Given the description of an element on the screen output the (x, y) to click on. 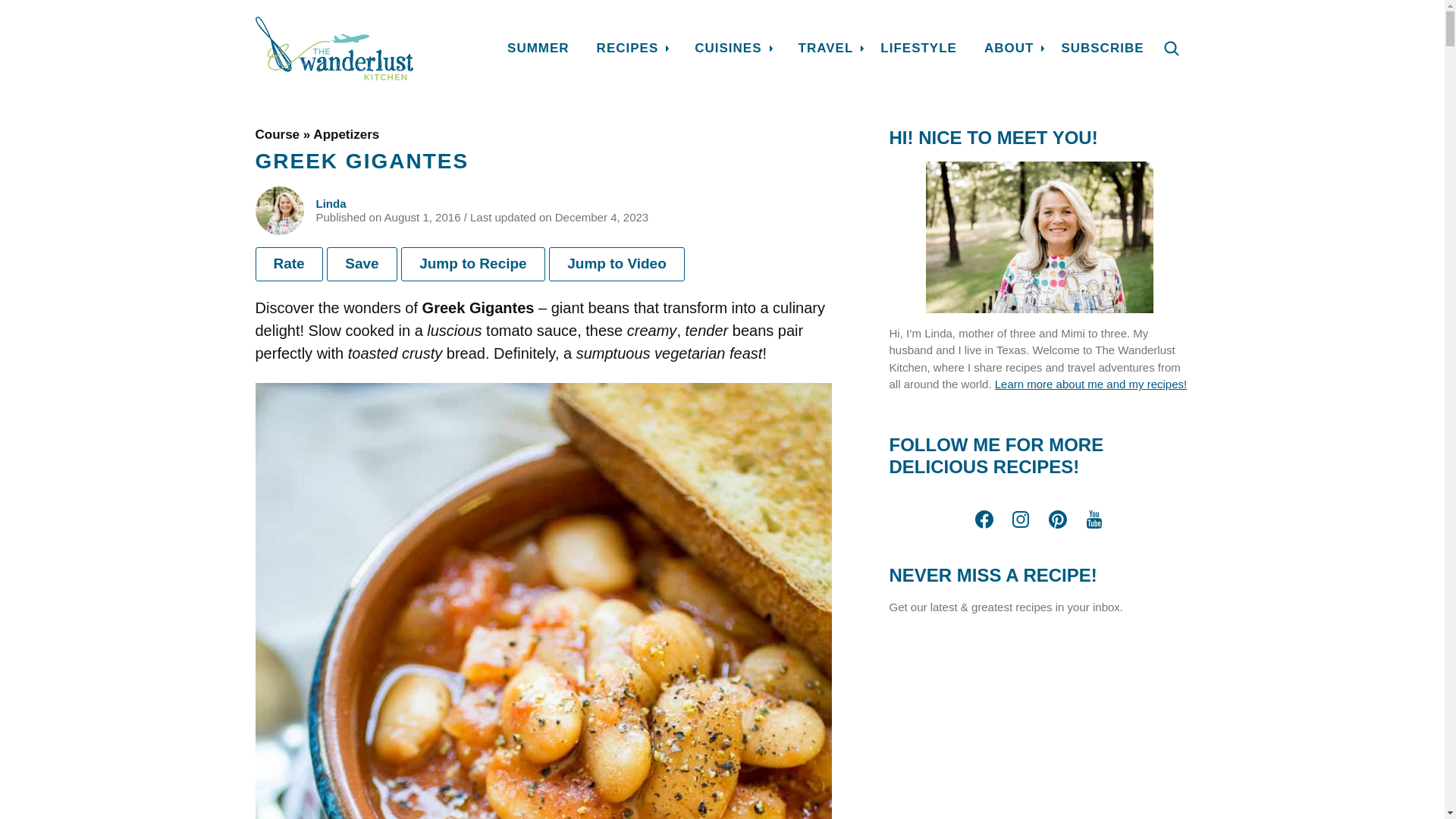
LIFESTYLE (918, 48)
TRAVEL (826, 48)
RECIPES (627, 48)
CUISINES (727, 48)
SUMMER (537, 48)
The Wanderlust Kitchen (333, 48)
